Given the description of an element on the screen output the (x, y) to click on. 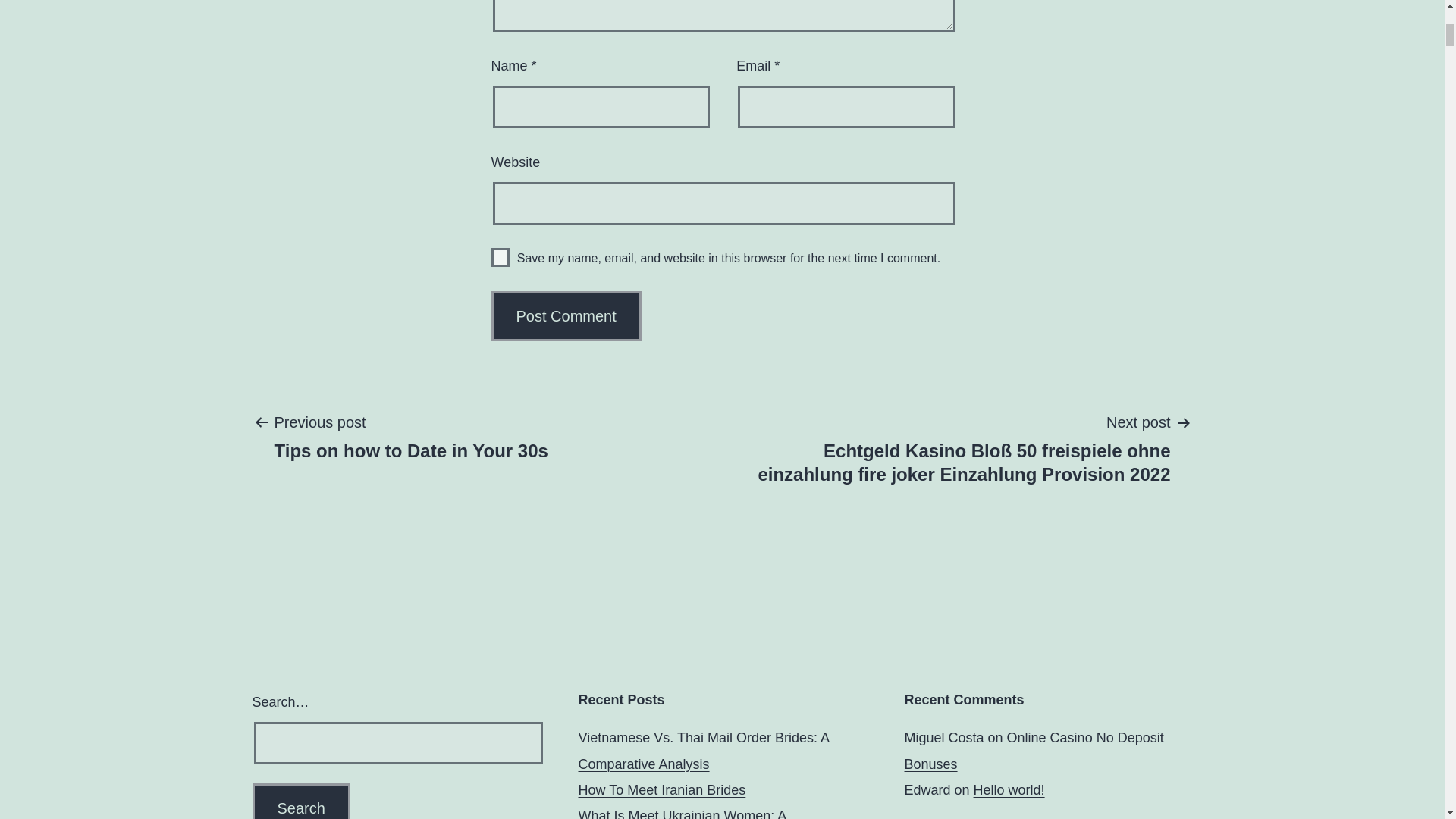
Search (300, 800)
How To Meet Iranian Brides (661, 789)
What Is Meet Ukrainian Women: A Comprehensive Guide (682, 813)
Online Casino No Deposit Bonuses (1033, 750)
Hello world! (1009, 789)
Post Comment (410, 435)
yes (567, 316)
Search (500, 257)
Post Comment (300, 800)
Search (567, 316)
